Given the description of an element on the screen output the (x, y) to click on. 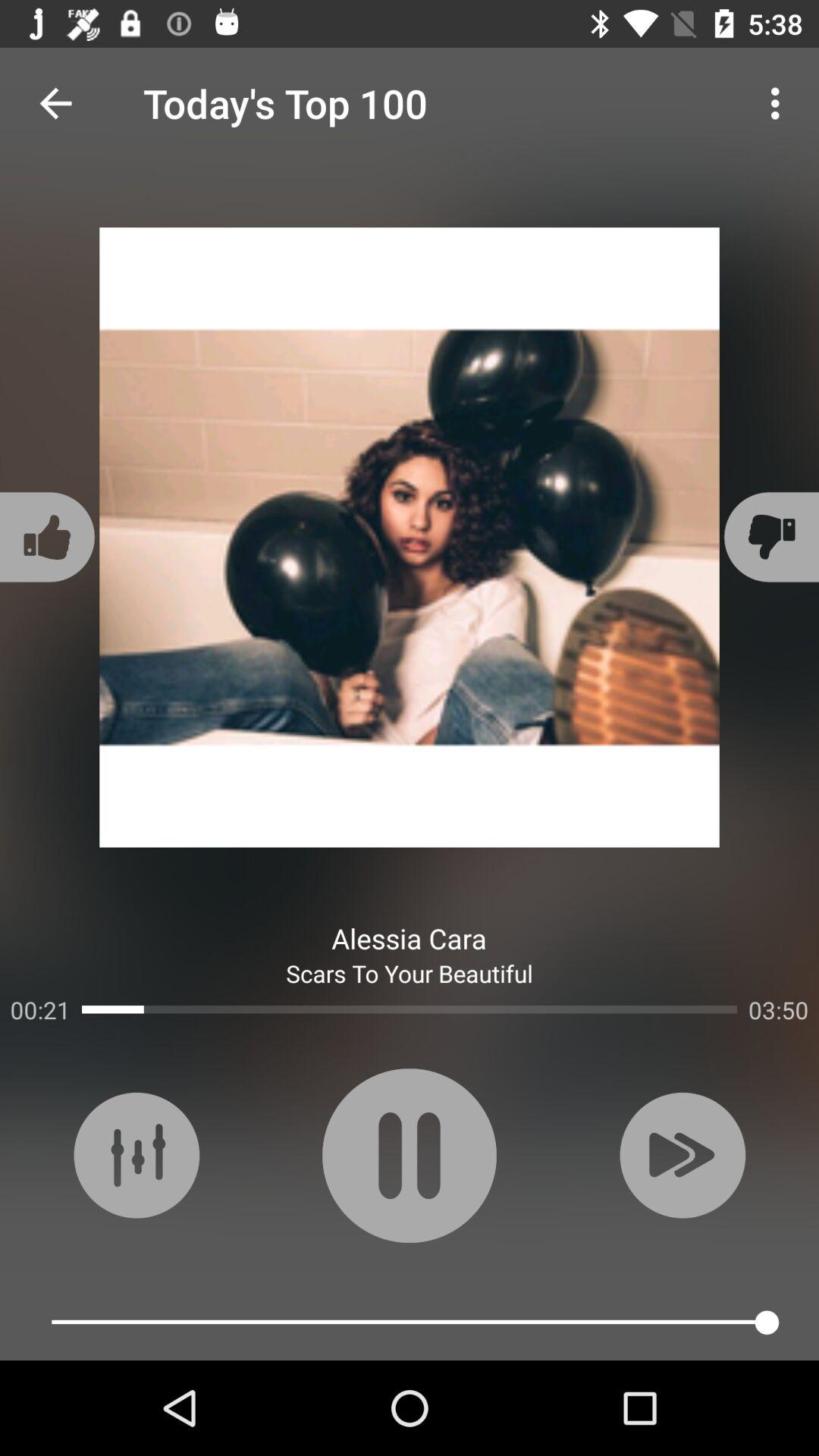
click icon on the left (49, 536)
